Given the description of an element on the screen output the (x, y) to click on. 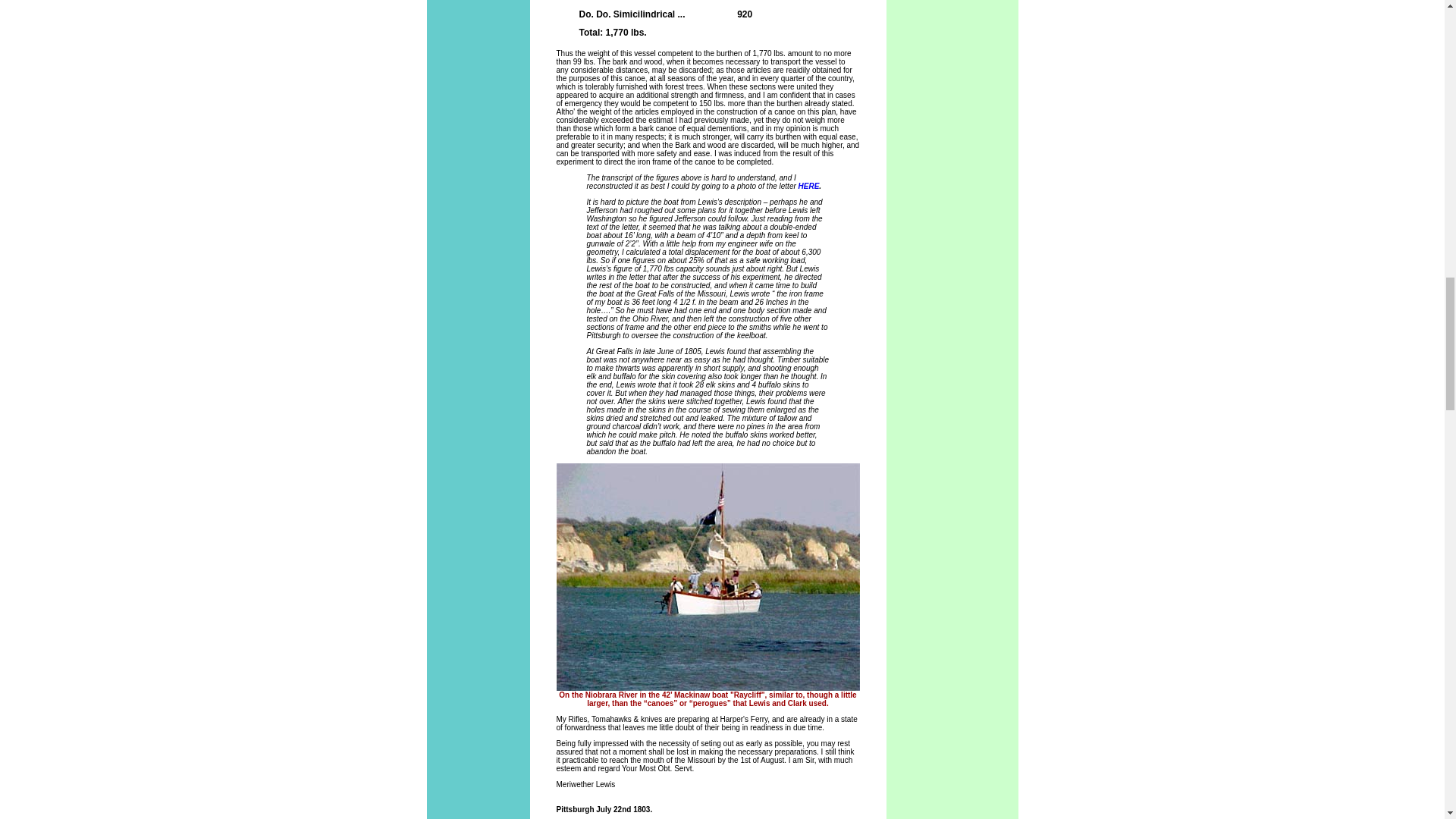
HERE (808, 185)
